Given the description of an element on the screen output the (x, y) to click on. 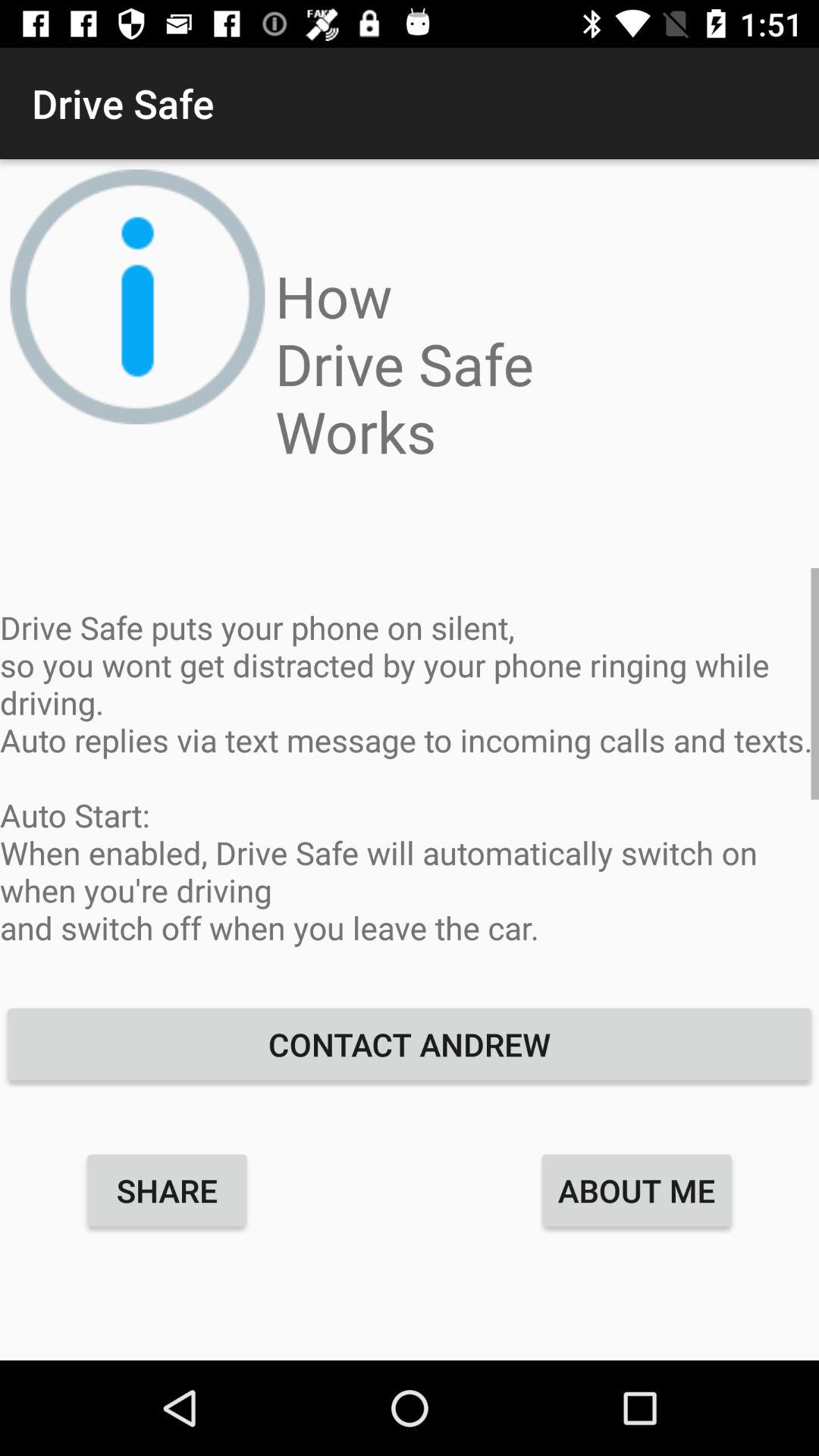
scroll until about me item (636, 1190)
